Given the description of an element on the screen output the (x, y) to click on. 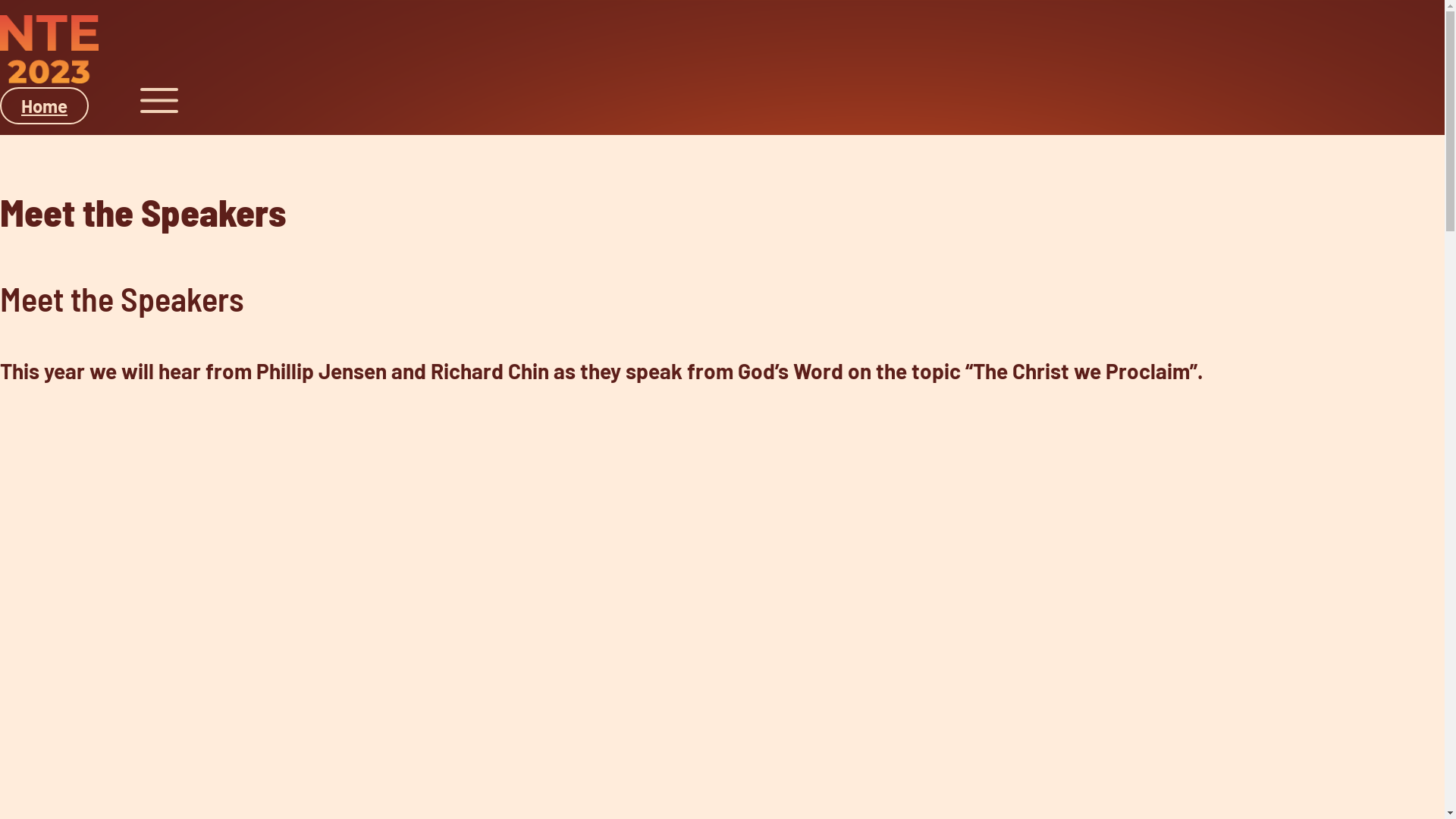
NTE2023 Promo Element type: hover (242, 672)
Home Element type: text (44, 105)
